Given the description of an element on the screen output the (x, y) to click on. 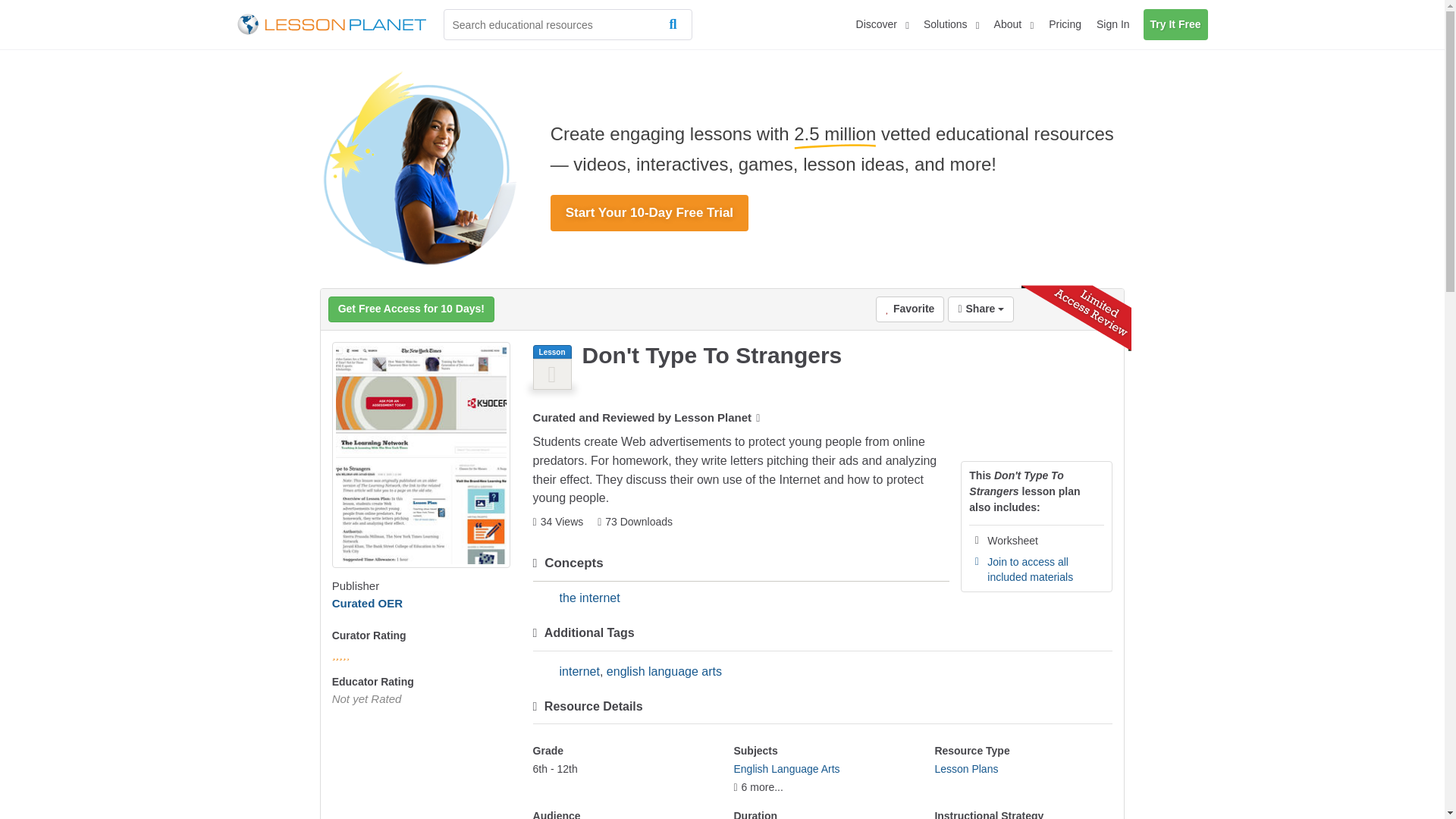
Pricing (1065, 24)
Try It Free (1175, 24)
the internet (589, 597)
internet (579, 671)
Curated OER (367, 603)
Join to access all included materials (1030, 569)
Share (980, 309)
Get Free Access for 10 Days! (412, 309)
Search (676, 24)
Sign In (1113, 24)
